Given the description of an element on the screen output the (x, y) to click on. 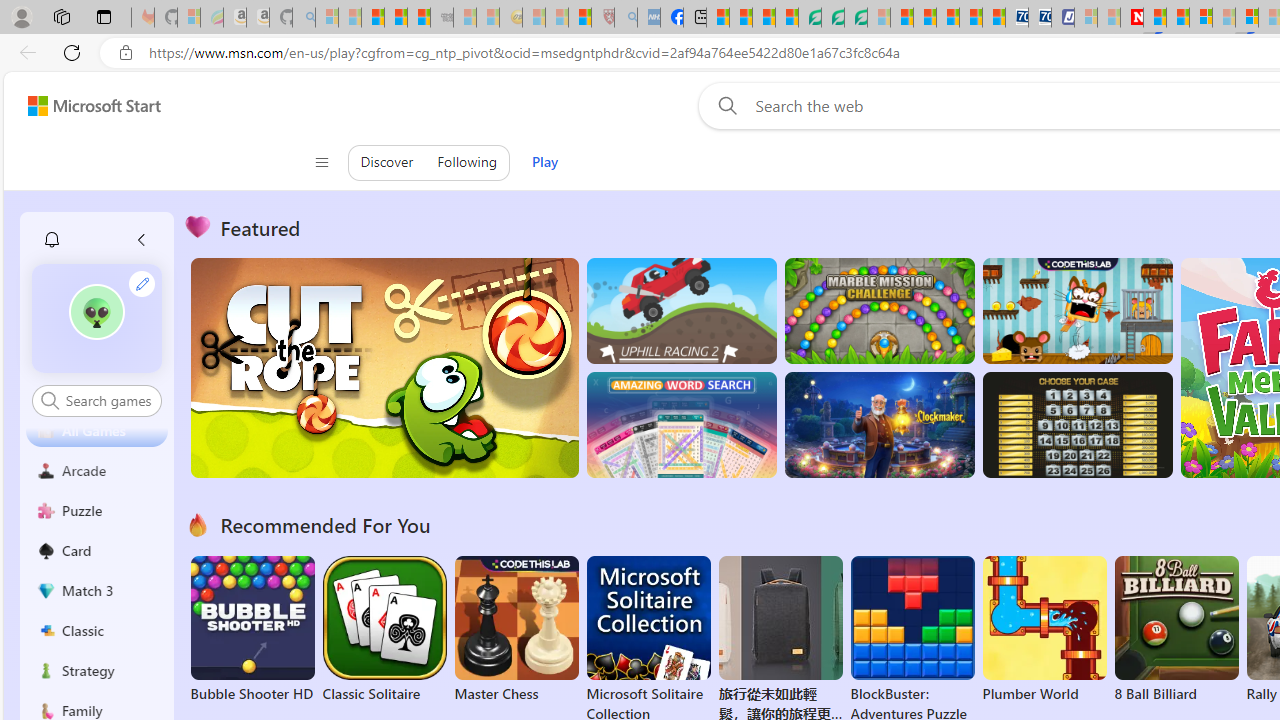
Terms of Use Agreement (832, 17)
AutomationID: control (108, 400)
Plumber World (1044, 629)
